Given the description of an element on the screen output the (x, y) to click on. 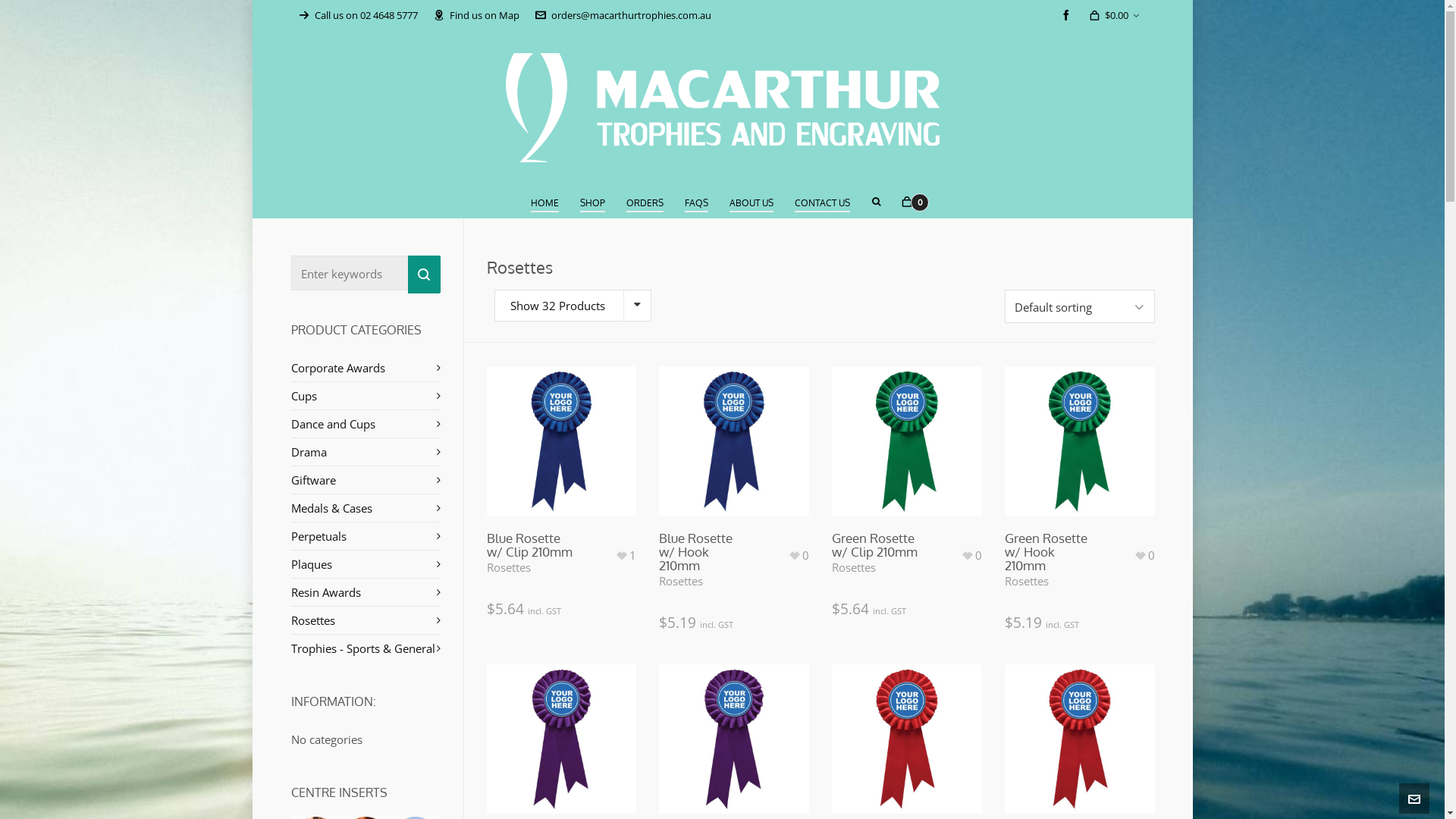
Perpetuals Element type: text (365, 535)
Trophies - Sports & General Element type: text (365, 648)
Dance and Cups Element type: text (365, 423)
CONTACT US Element type: text (822, 201)
Rosettes Element type: text (508, 566)
Blue Rosette w/ Clip 210mm Element type: text (531, 544)
0 Element type: text (907, 201)
Blue Rosette w/ Hook 210mm Element type: text (703, 551)
Giftware Element type: text (365, 479)
Rosettes Element type: text (1026, 580)
Green Rosette w/ Clip 210mm Element type: text (876, 544)
HOME Element type: text (544, 201)
Find us on Map Element type: text (476, 15)
FAQS Element type: text (696, 201)
ABOUT US Element type: text (751, 201)
Rosettes Element type: text (853, 566)
Green Rosette w/ Hook 210mm Element type: text (1049, 551)
Show 32 Products Element type: text (556, 305)
Medals & Cases Element type: text (365, 507)
Rosettes Element type: text (680, 580)
SHOP Element type: text (592, 201)
Plaques Element type: text (365, 563)
Resin Awards Element type: text (365, 591)
Drama Element type: text (365, 451)
orders@macarthurtrophies.com.au Element type: text (623, 15)
Rosettes Element type: text (365, 619)
$0.00 Element type: text (1113, 15)
Corporate Awards Element type: text (365, 367)
Cups Element type: text (365, 395)
ORDERS Element type: text (644, 201)
